Given the description of an element on the screen output the (x, y) to click on. 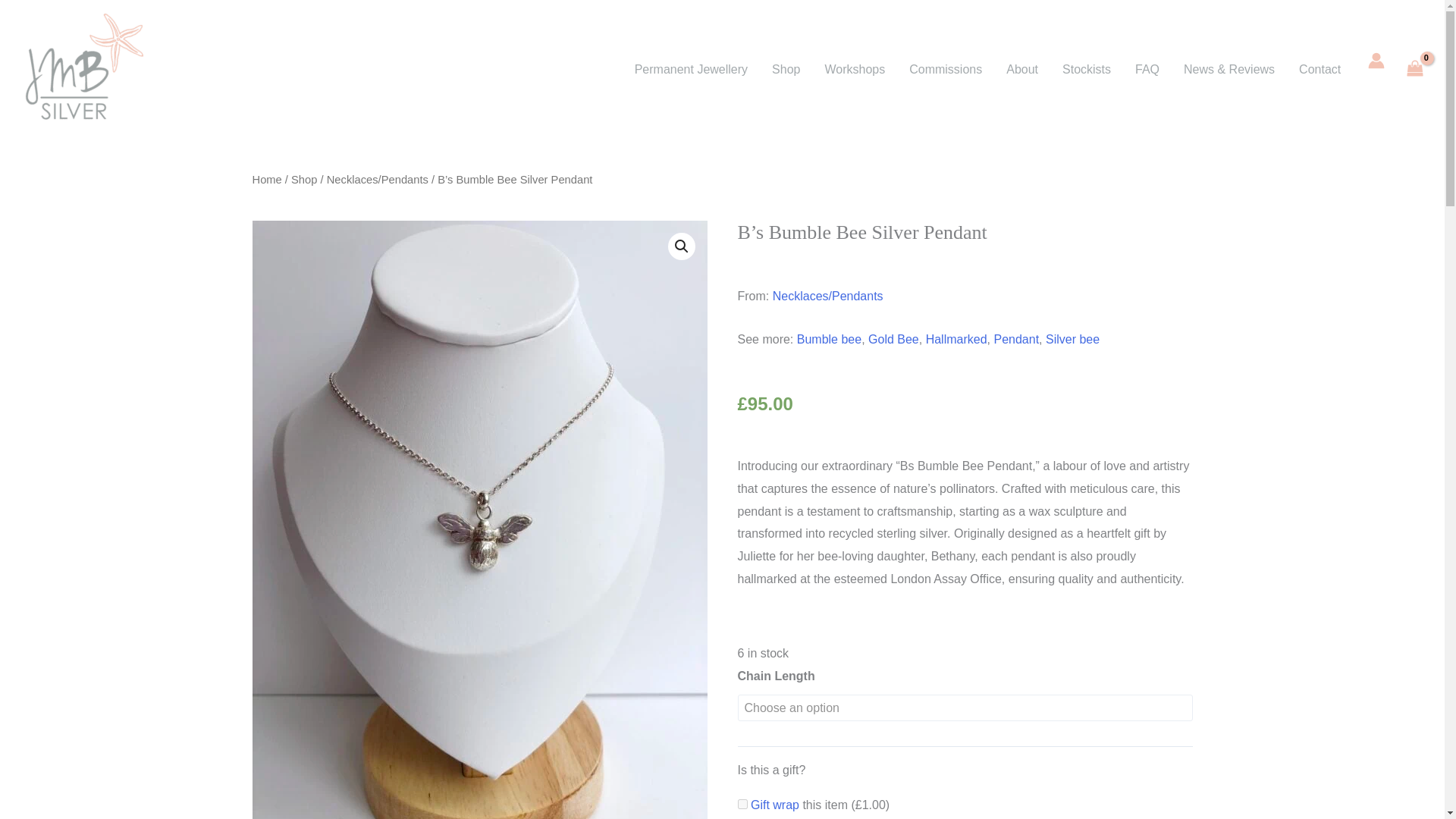
Workshops (854, 69)
Shop (786, 69)
Contact (1319, 69)
Permanent Jewellery (691, 69)
Commissions (945, 69)
About (1021, 69)
FAQ (1147, 69)
on (741, 804)
Home (266, 179)
Shop (304, 179)
